Given the description of an element on the screen output the (x, y) to click on. 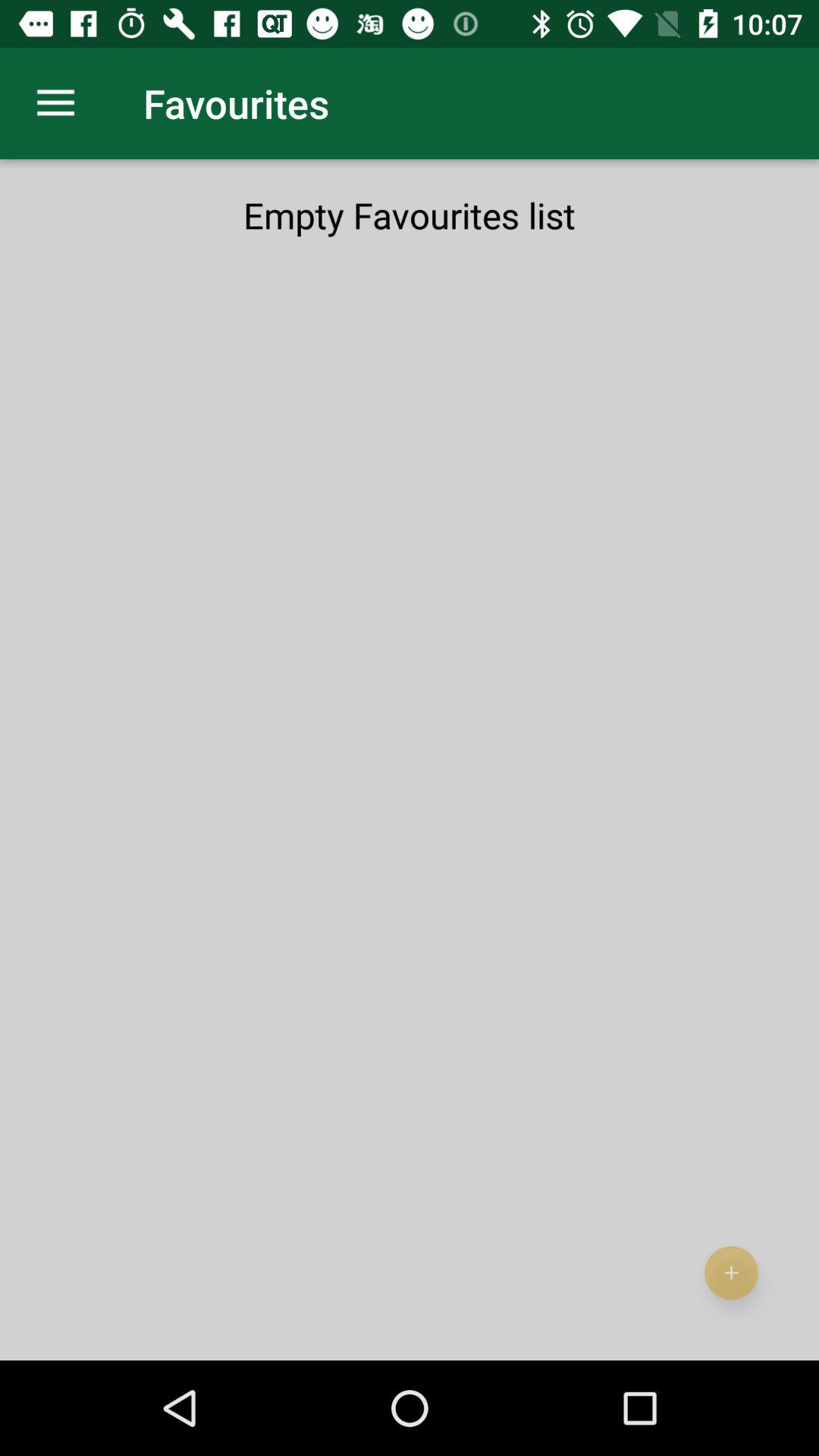
tap the item next to favourites item (55, 103)
